Given the description of an element on the screen output the (x, y) to click on. 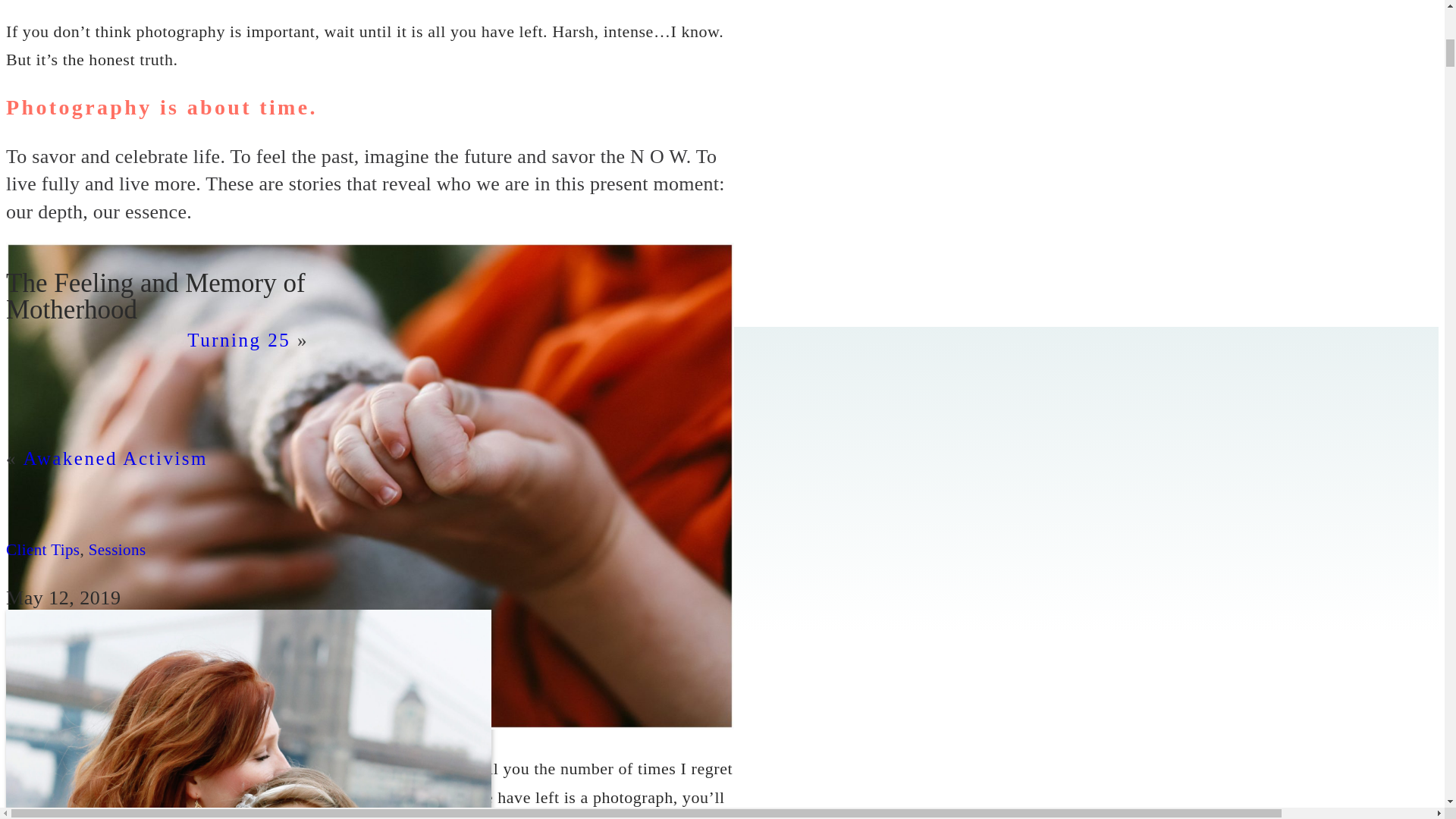
Client Tips (42, 549)
Sessions (117, 549)
Awakened Activism (115, 457)
Turning 25 (238, 340)
